Given the description of an element on the screen output the (x, y) to click on. 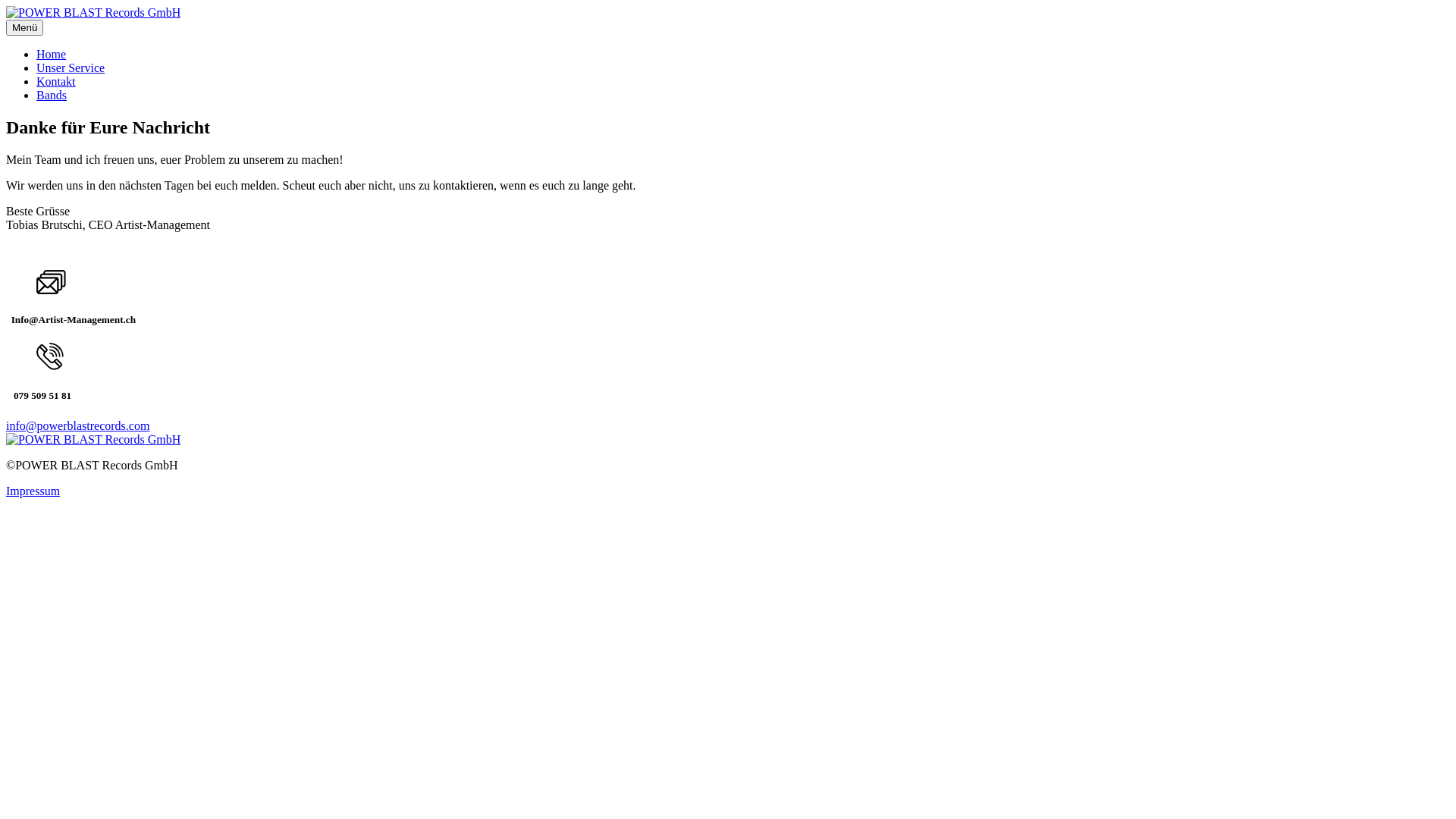
Bands Element type: text (51, 94)
info@powerblastrecords.com Element type: text (77, 424)
Kontakt Element type: text (55, 81)
Home Element type: text (50, 53)
Impressum Element type: text (32, 489)
Unser Service Element type: text (70, 67)
